Given the description of an element on the screen output the (x, y) to click on. 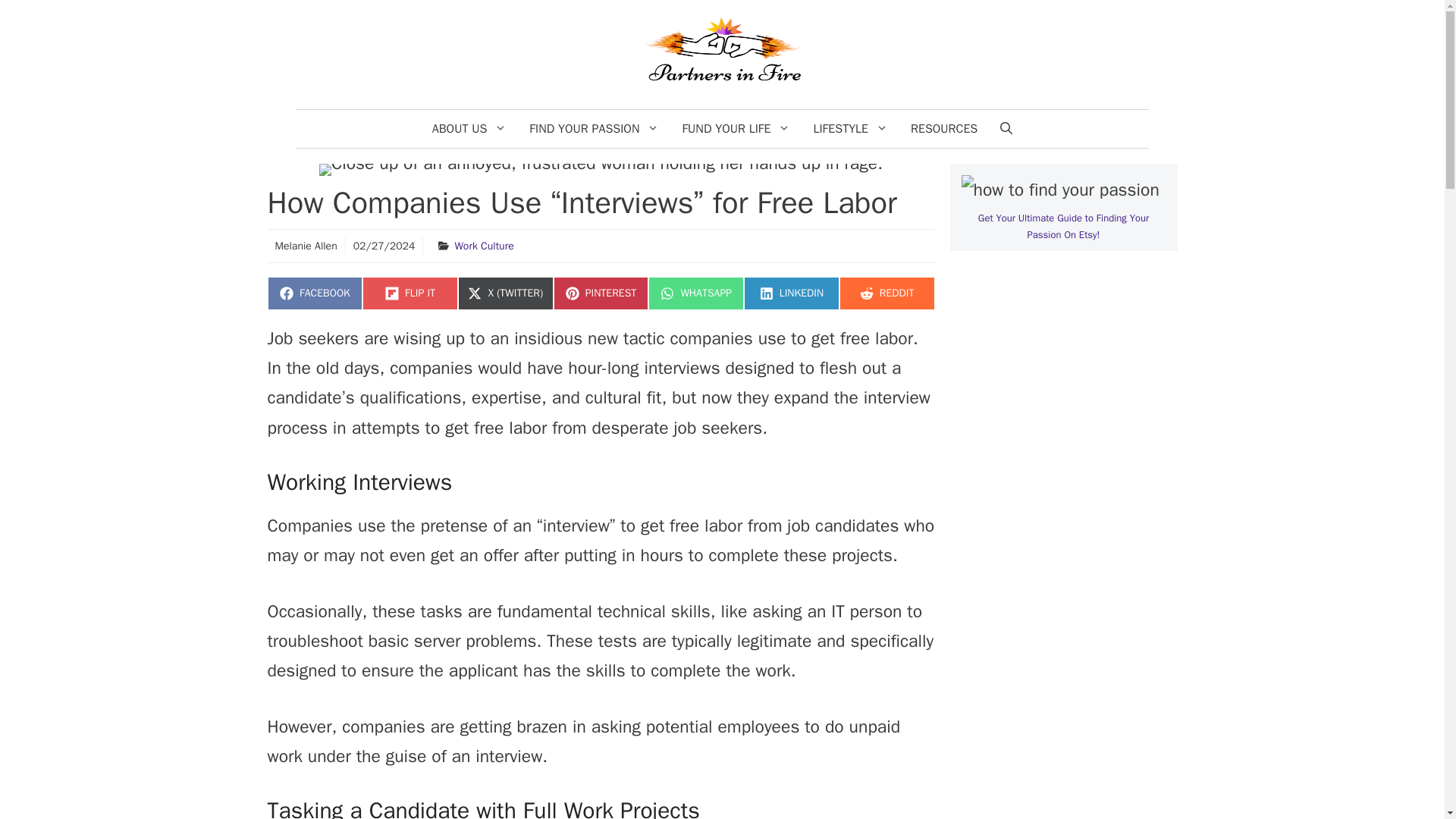
Work Culture (483, 245)
FUND YOUR LIFE (735, 128)
RESOURCES (943, 128)
LIFESTYLE (601, 293)
ABOUT US (850, 128)
FIND YOUR PASSION (469, 128)
